Given the description of an element on the screen output the (x, y) to click on. 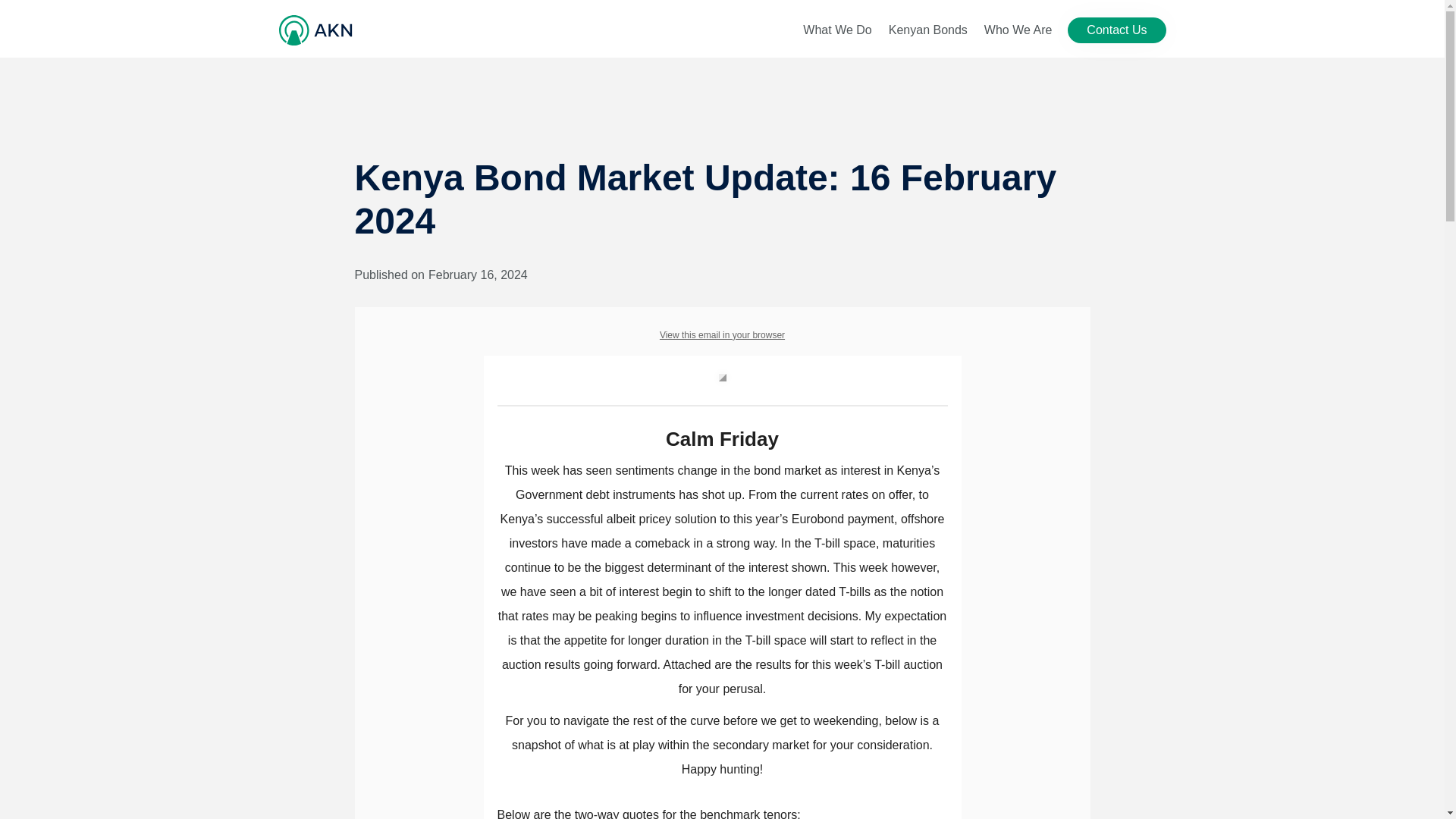
Contact Us (1116, 30)
View this email in your browser (721, 335)
Who We Are (1018, 30)
What We Do (836, 30)
Kenyan Bonds (927, 30)
